Given the description of an element on the screen output the (x, y) to click on. 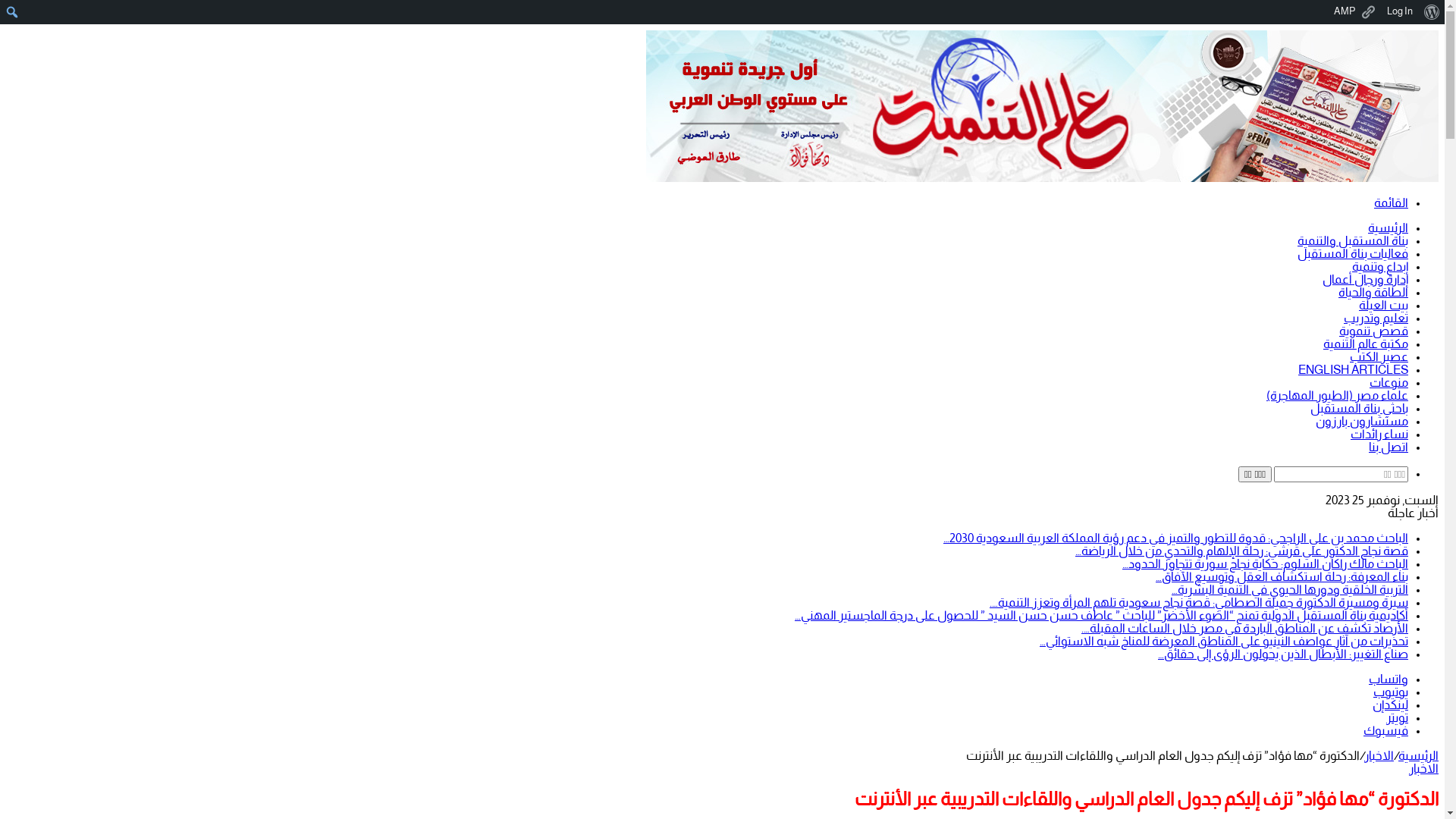
Log In Element type: text (1399, 12)
AMP Element type: text (1353, 12)
ENGLISH ARTICLES Element type: text (1353, 370)
